Given the description of an element on the screen output the (x, y) to click on. 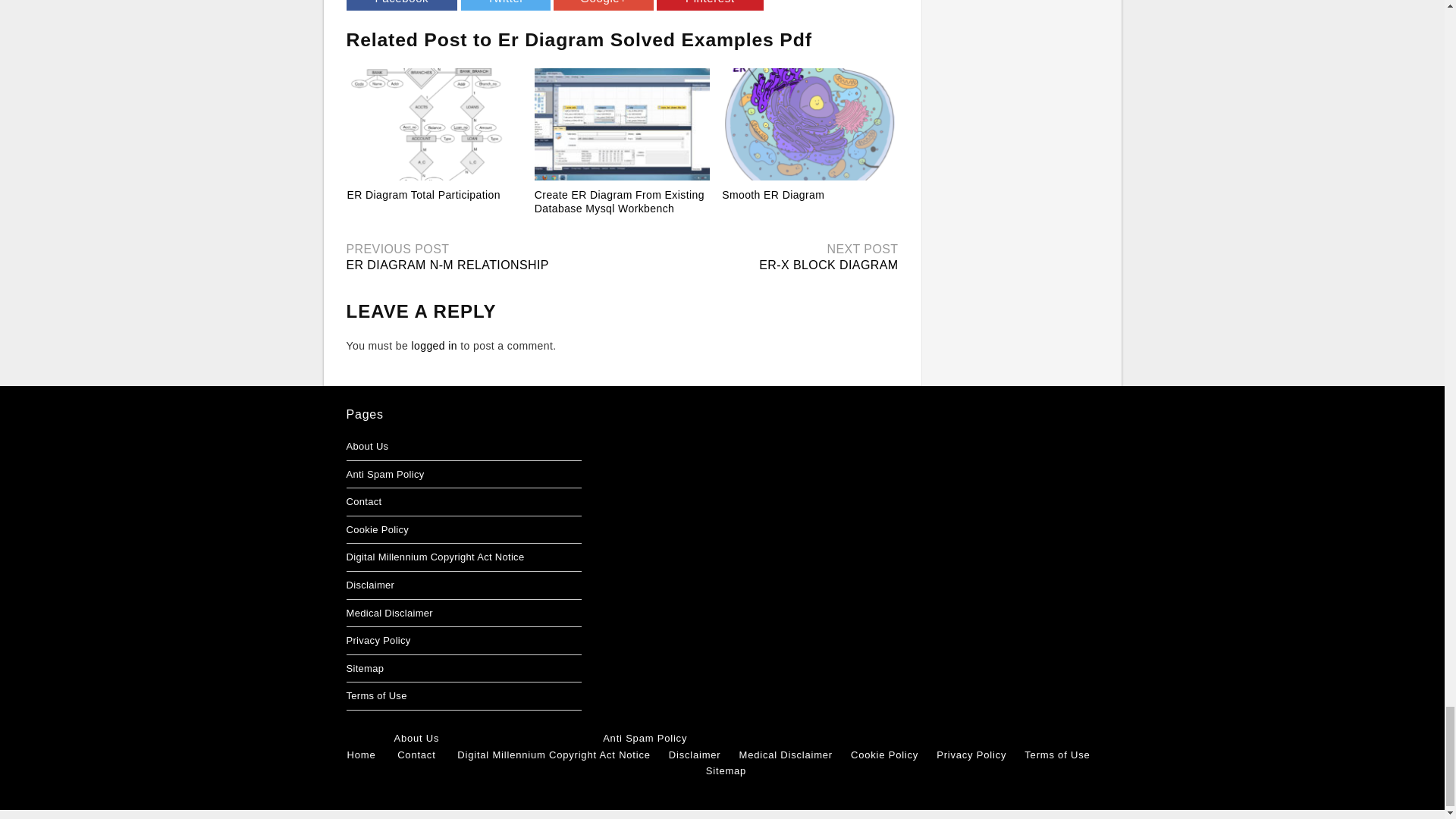
logged in (434, 345)
ER DIAGRAM N-M RELATIONSHIP (447, 264)
ER-X BLOCK DIAGRAM (828, 264)
Facebook (401, 5)
Pinterest (709, 5)
Twitter (505, 5)
Smooth ER Diagram (773, 194)
Create ER Diagram From Existing Database Mysql Workbench (619, 201)
ER Diagram Total Participation (423, 194)
